Given the description of an element on the screen output the (x, y) to click on. 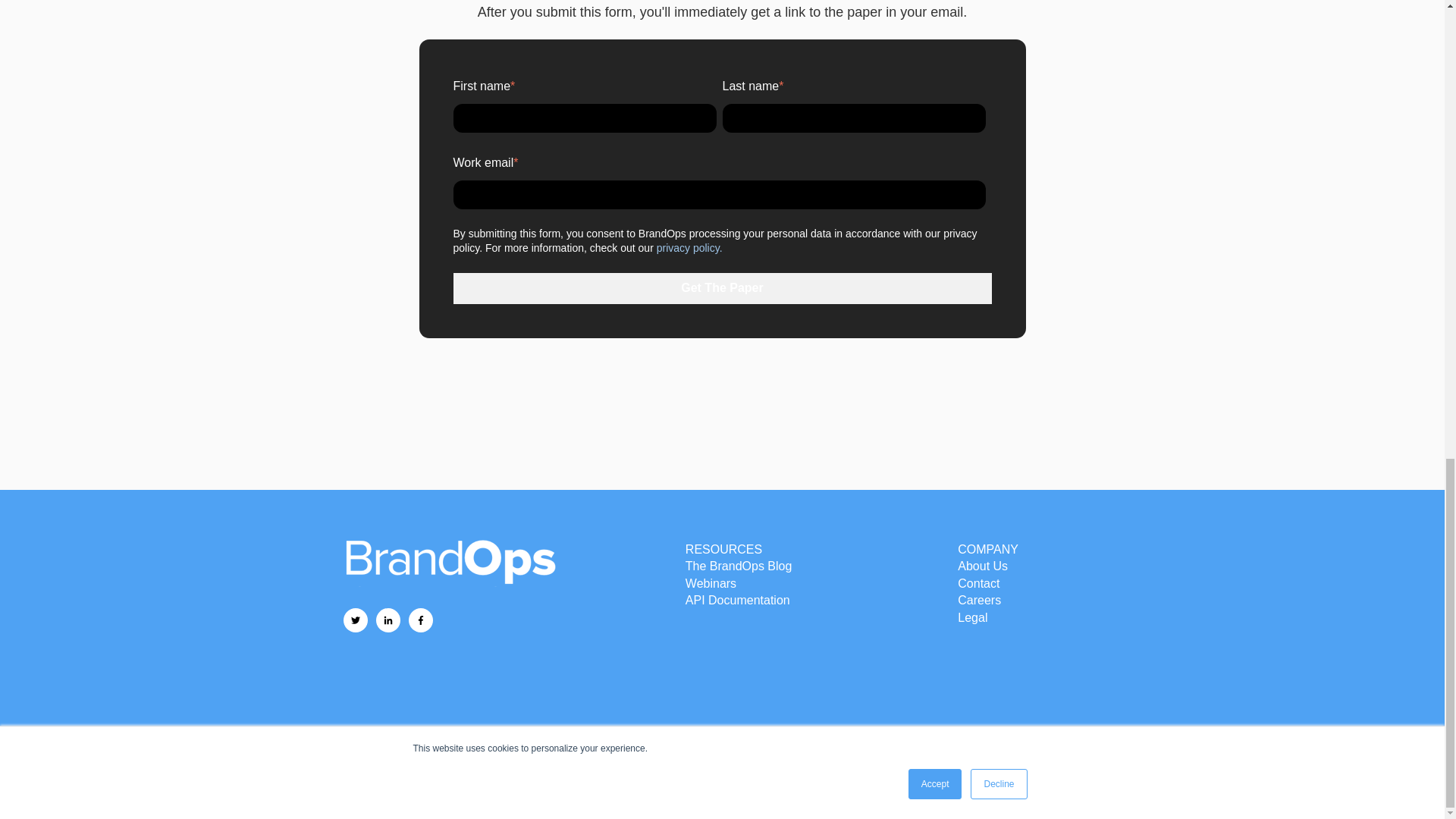
BrandOps (448, 561)
Get The Paper (721, 287)
